Given the description of an element on the screen output the (x, y) to click on. 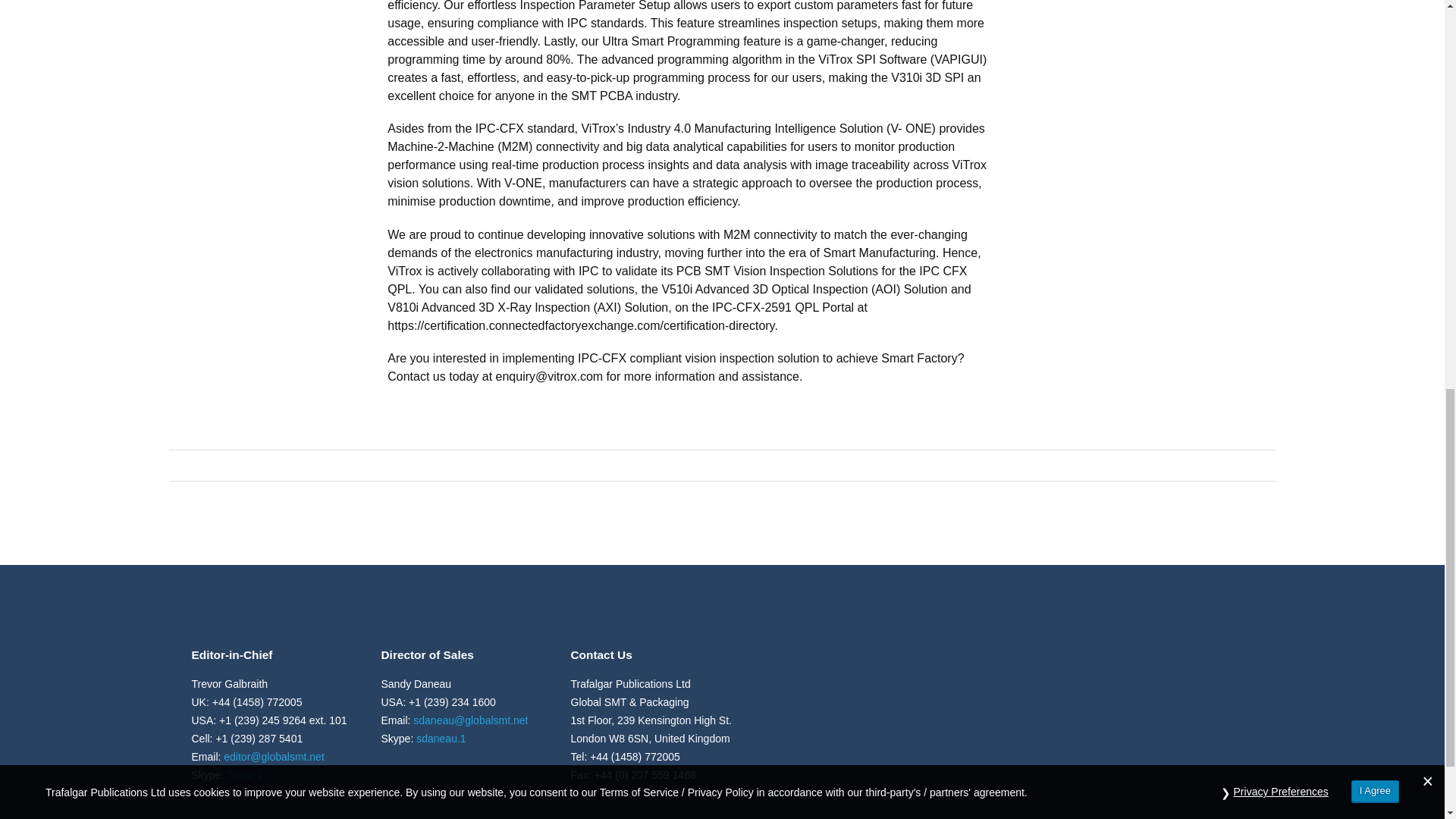
Treva-1 (245, 775)
sdaneau.1 (440, 738)
